Given the description of an element on the screen output the (x, y) to click on. 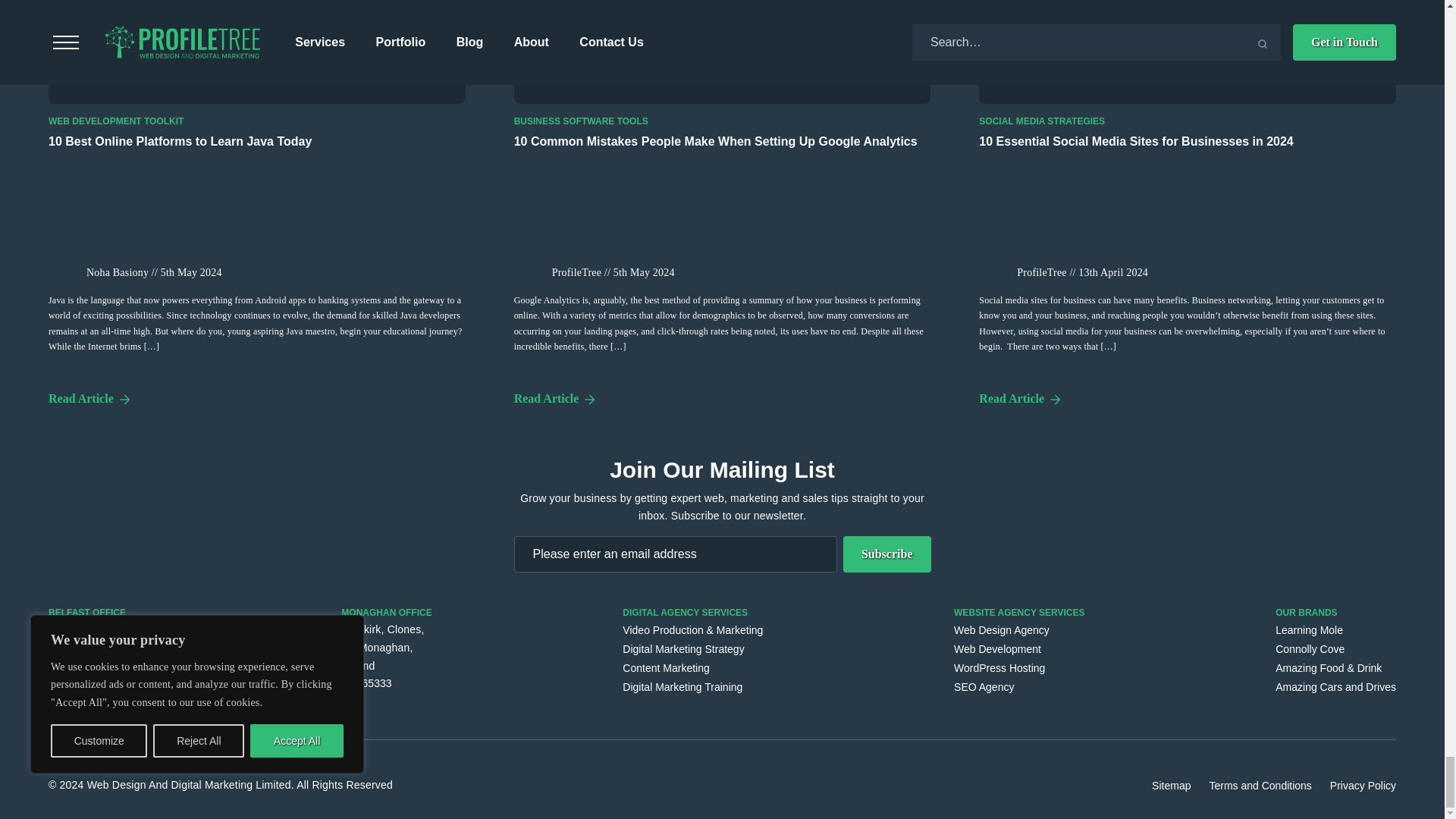
Subscribe (887, 554)
